Given the description of an element on the screen output the (x, y) to click on. 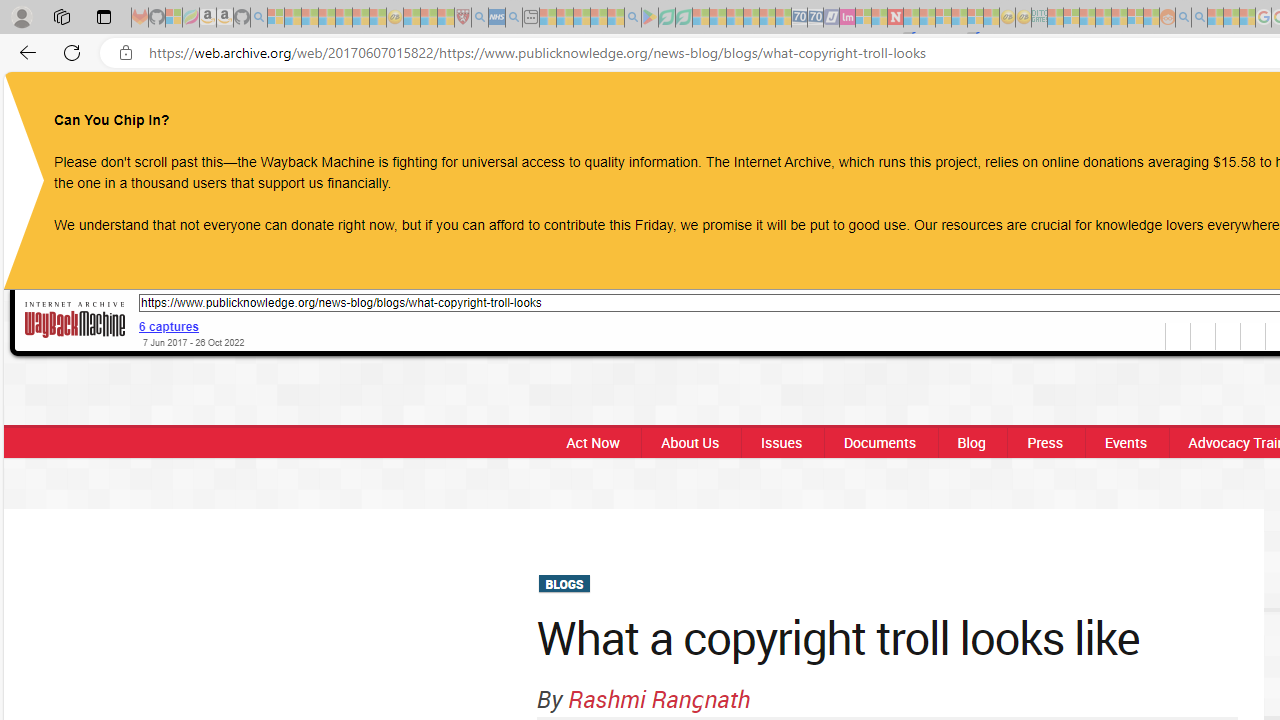
Issues (781, 442)
Bluey: Let's Play! - Apps on Google Play - Sleeping (649, 17)
google - Search - Sleeping (632, 17)
Act Now (592, 442)
About Us (690, 442)
6 captures (169, 326)
